Given the description of an element on the screen output the (x, y) to click on. 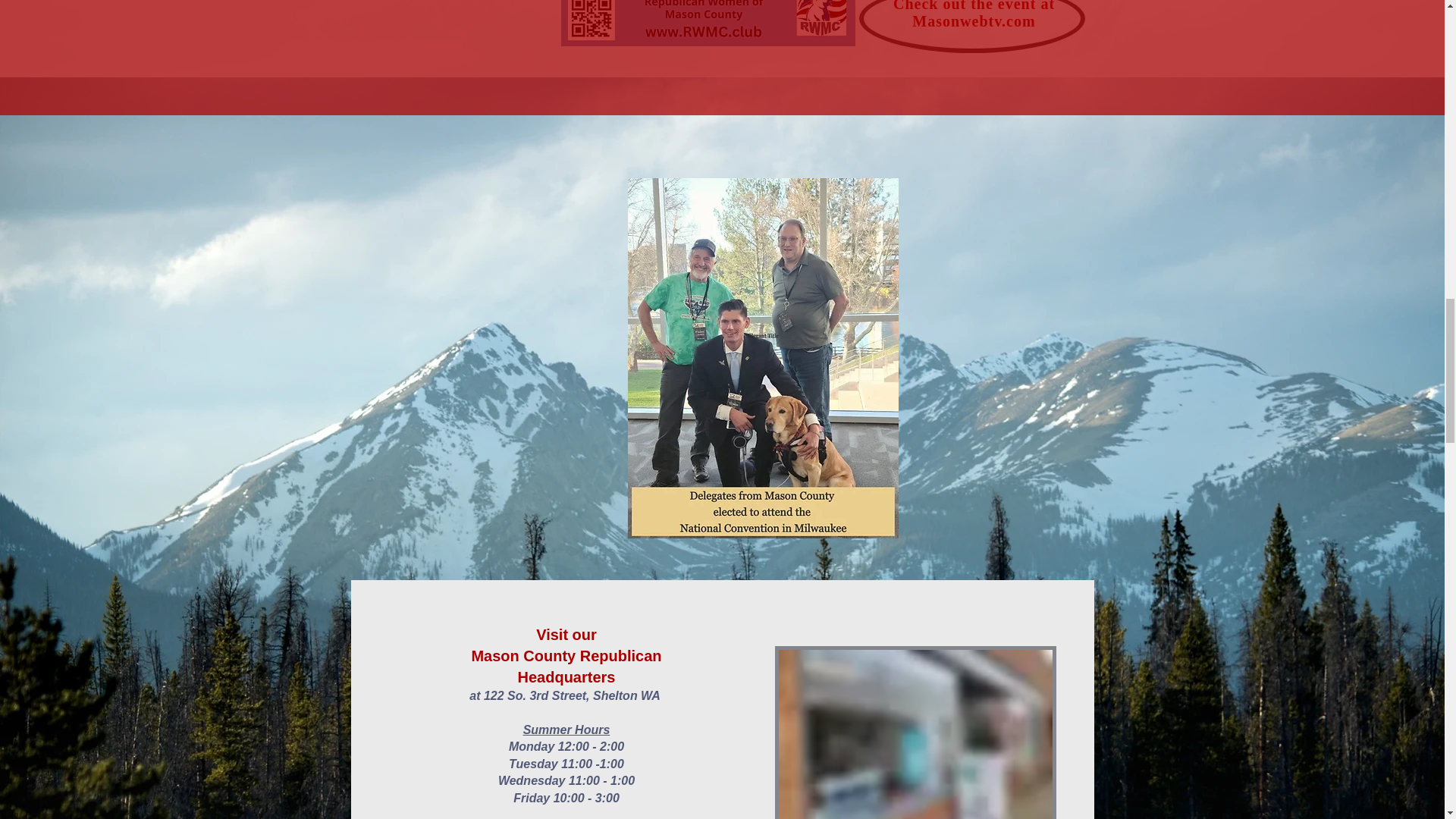
thumbnail.jfif (708, 22)
